Given the description of an element on the screen output the (x, y) to click on. 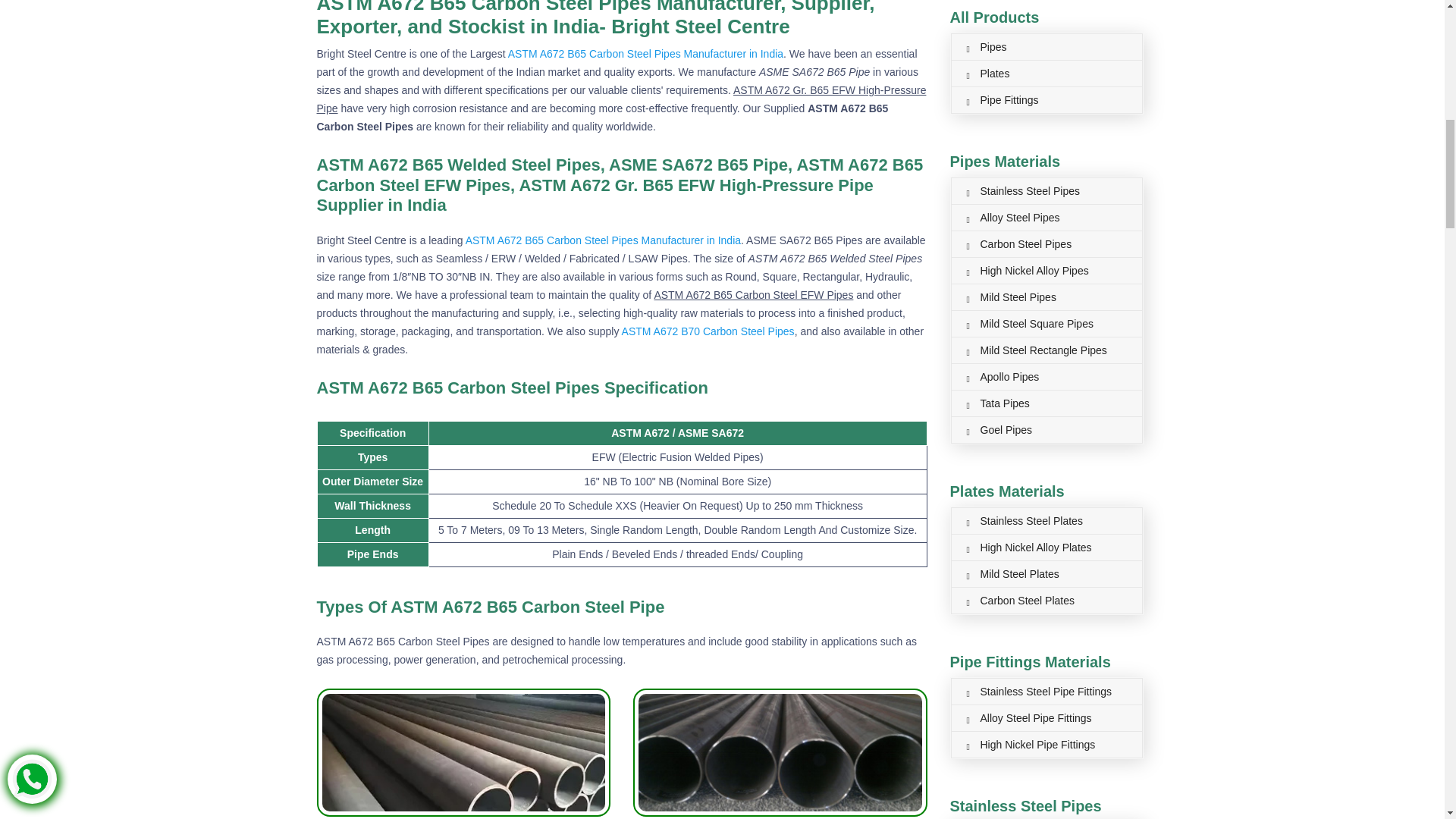
ASTM A67 B65 Carbon Steel Pipe Manufacturer in India (464, 752)
ASTM A672  B65 Carbon Steel Pipe Supplier in India (780, 752)
